Given the description of an element on the screen output the (x, y) to click on. 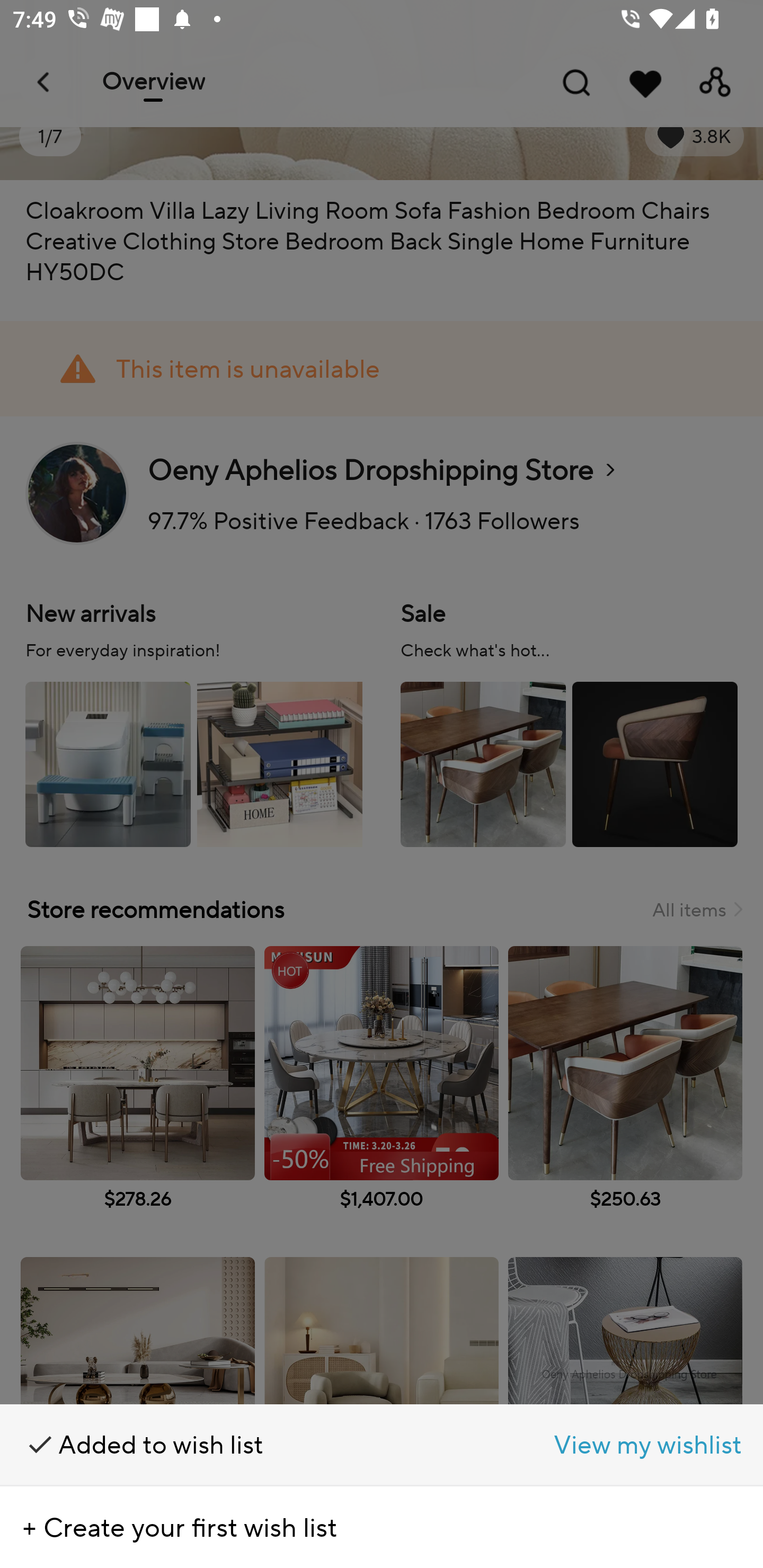
View my wishlist (572, 1444)
+ Create your first wish list (381, 1527)
